Given the description of an element on the screen output the (x, y) to click on. 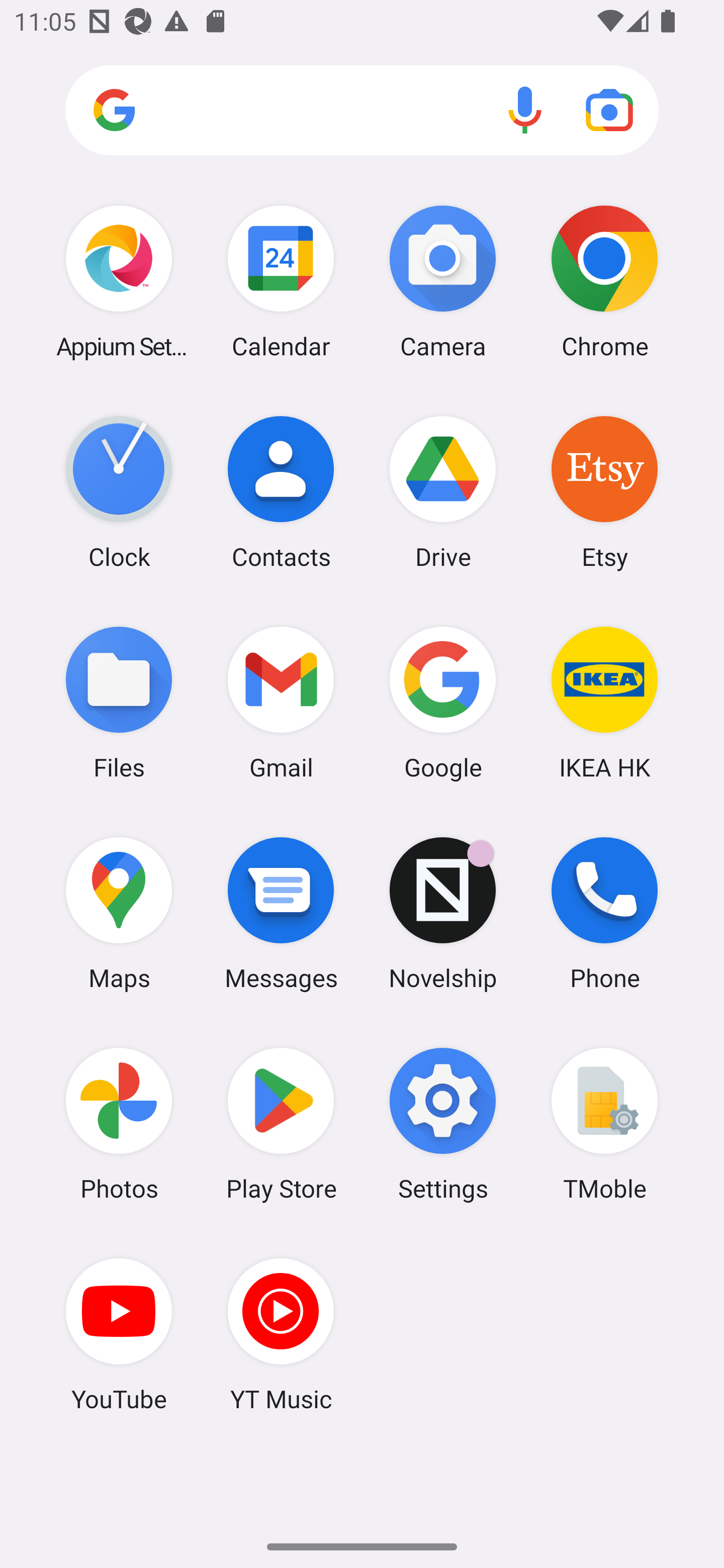
Search apps, web and more (361, 110)
Voice search (524, 109)
Google Lens (608, 109)
Appium Settings (118, 281)
Calendar (280, 281)
Camera (443, 281)
Chrome (604, 281)
Clock (118, 492)
Contacts (280, 492)
Drive (443, 492)
Etsy (604, 492)
Files (118, 702)
Gmail (280, 702)
Google (443, 702)
IKEA HK (604, 702)
Maps (118, 913)
Messages (280, 913)
Novelship Novelship has 1 notification (443, 913)
Phone (604, 913)
Photos (118, 1124)
Play Store (280, 1124)
Settings (443, 1124)
TMoble (604, 1124)
YouTube (118, 1334)
YT Music (280, 1334)
